Given the description of an element on the screen output the (x, y) to click on. 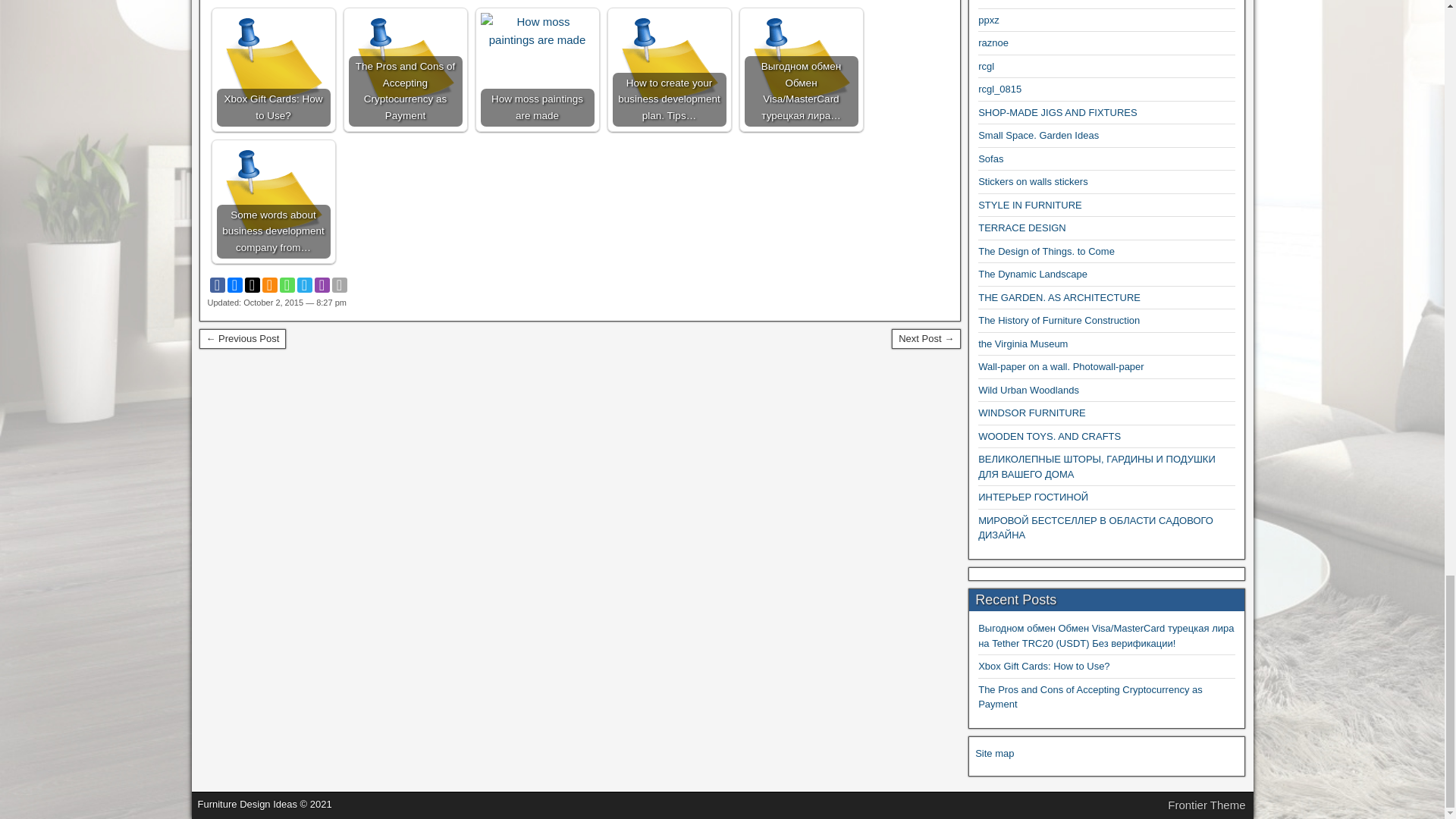
Xbox Gift Cards: How to Use? (273, 69)
The Pros and Cons of Accepting Cryptocurrency as Payment (406, 69)
The Pros and Cons of Accepting Cryptocurrency as Payment (406, 69)
Xbox Gift Cards: How to Use? (273, 69)
How moss paintings are made (537, 69)
How moss paintings are made (537, 31)
